Given the description of an element on the screen output the (x, y) to click on. 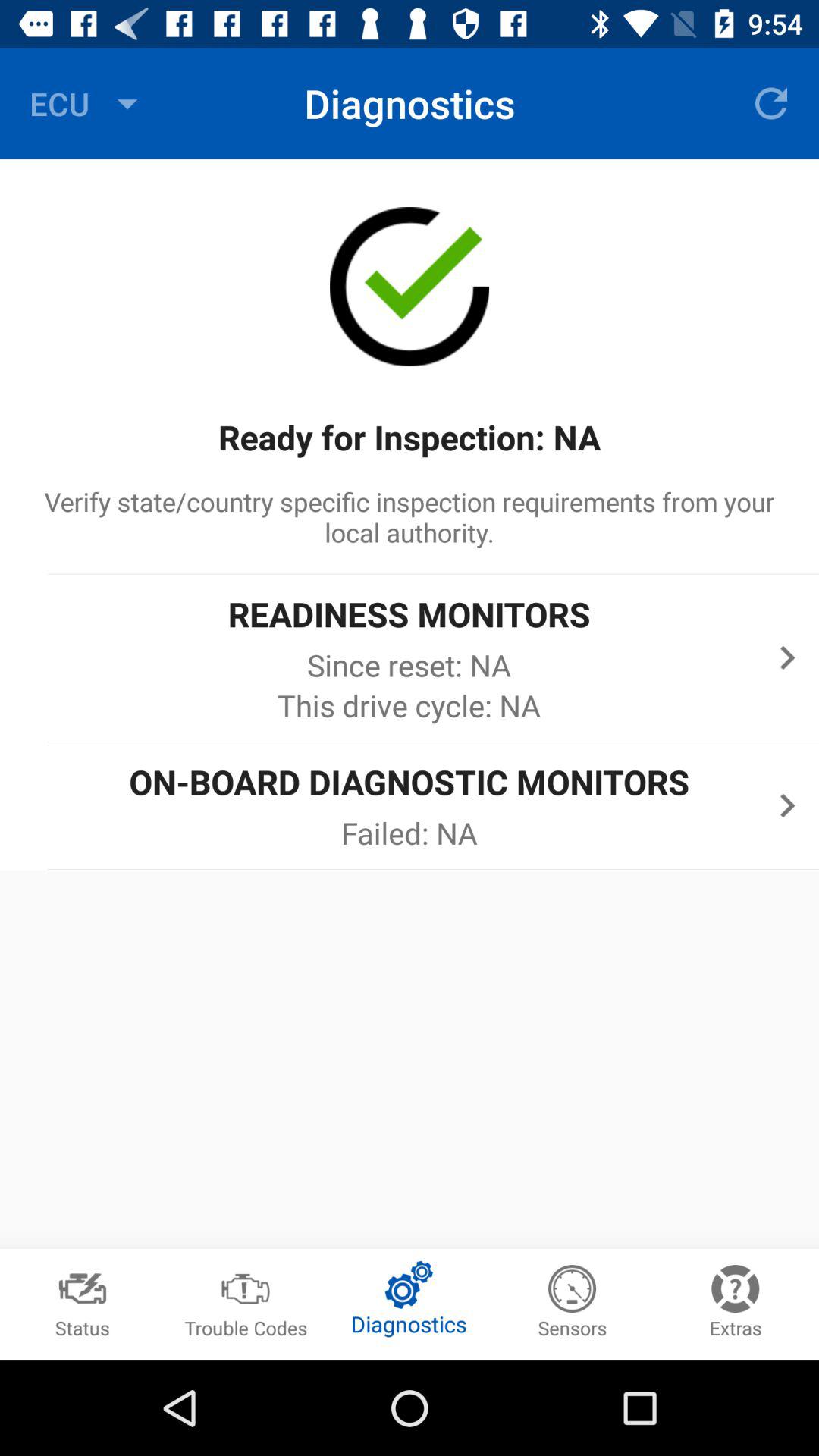
turn off the icon at the top right corner (771, 103)
